Given the description of an element on the screen output the (x, y) to click on. 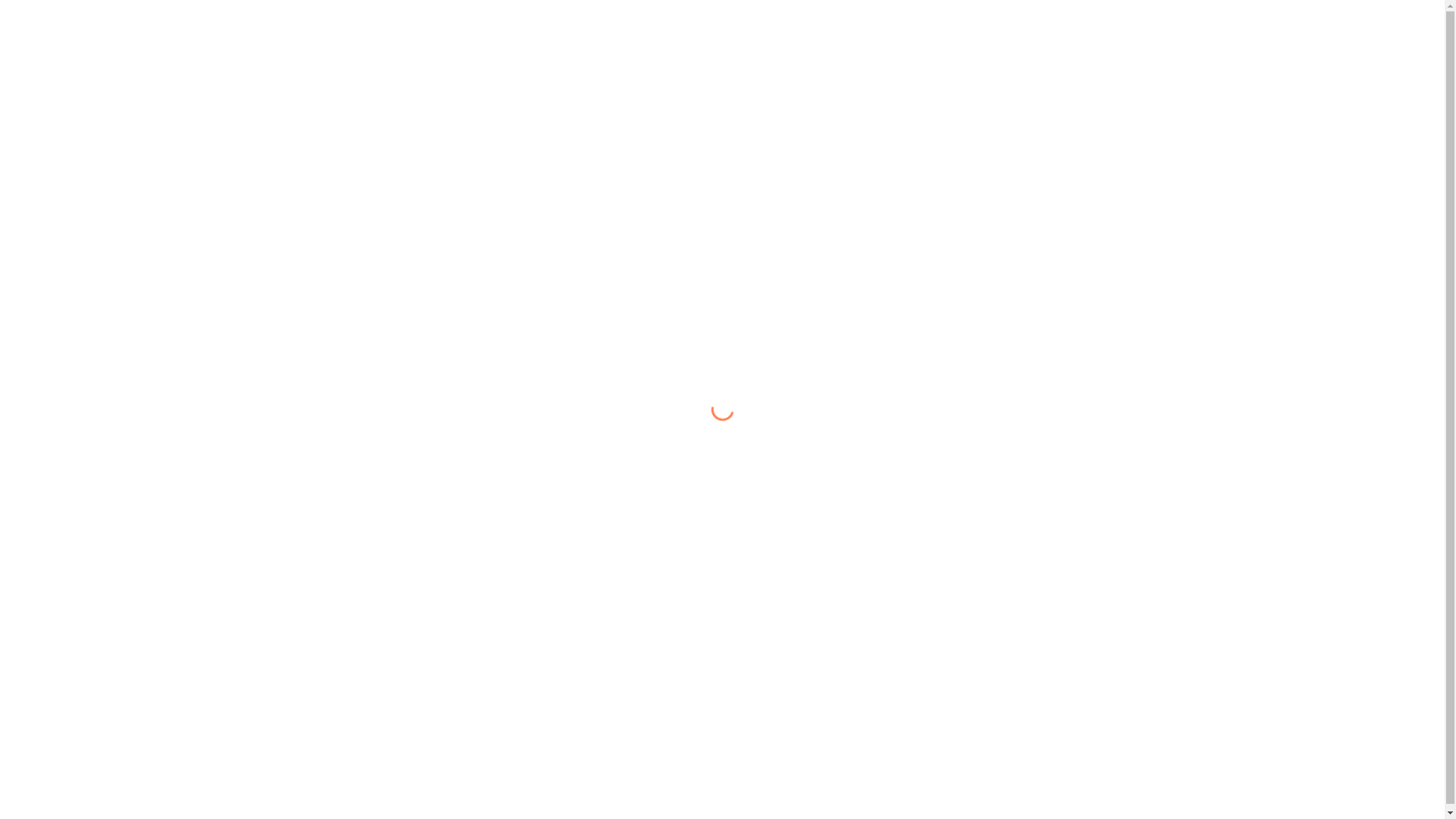
loading Element type: hover (717, 405)
